Given the description of an element on the screen output the (x, y) to click on. 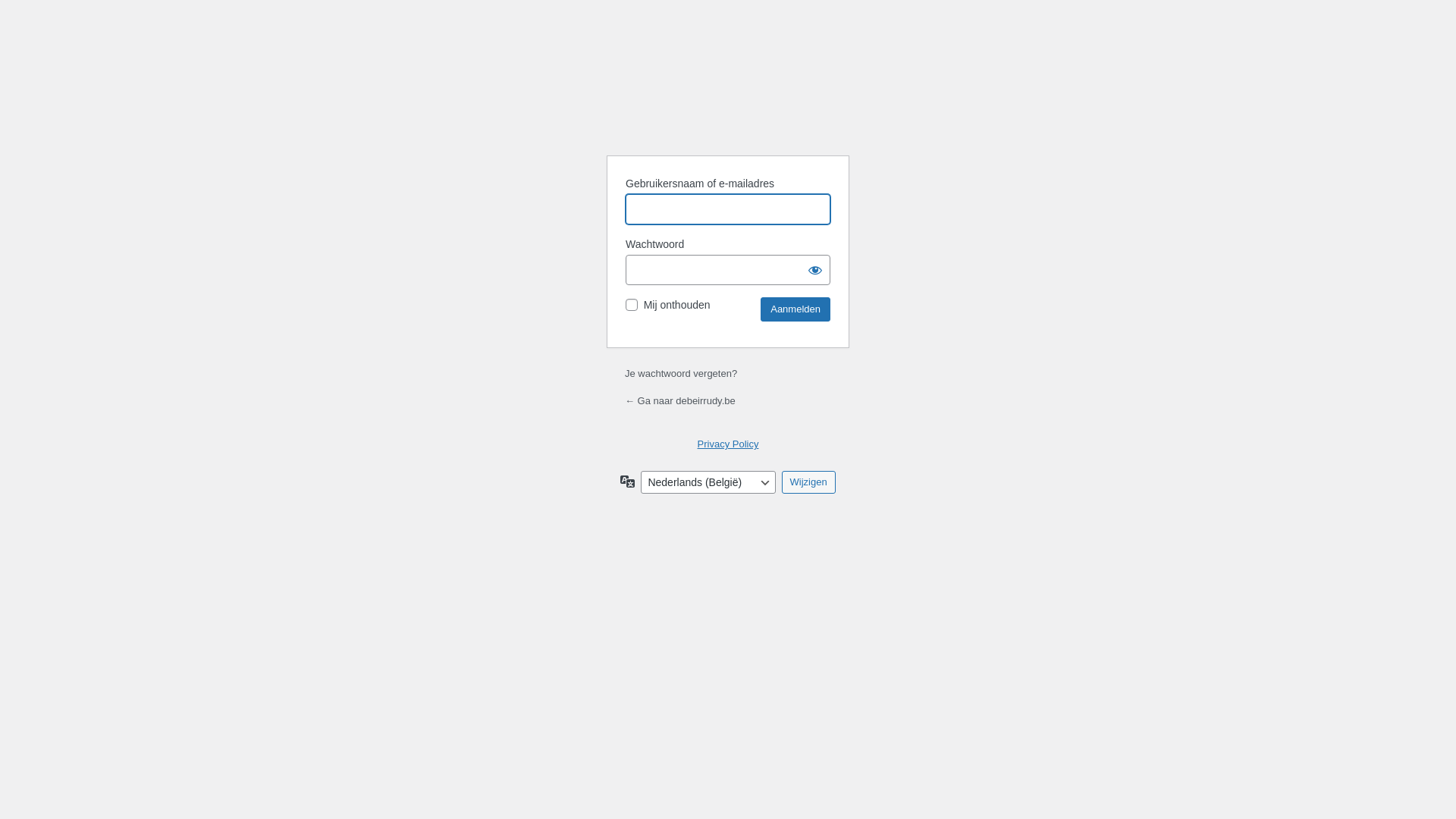
Mogelijk gemaakt door WordPress Element type: text (727, 104)
Je wachtwoord vergeten? Element type: text (680, 373)
Aanmelden Element type: text (795, 309)
Wijzigen Element type: text (808, 481)
Privacy Policy Element type: text (728, 443)
